Given the description of an element on the screen output the (x, y) to click on. 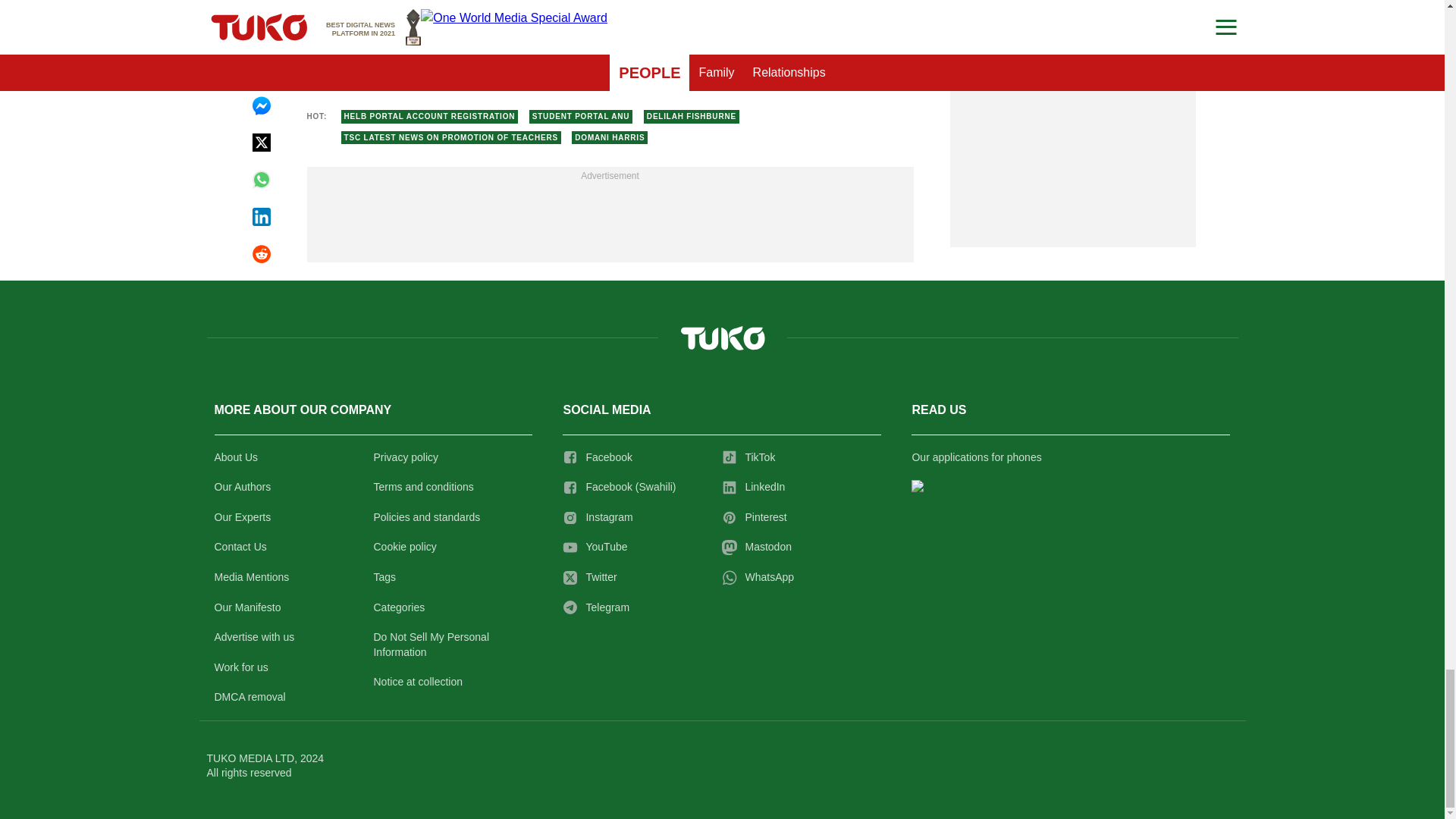
Author page (533, 31)
